Given the description of an element on the screen output the (x, y) to click on. 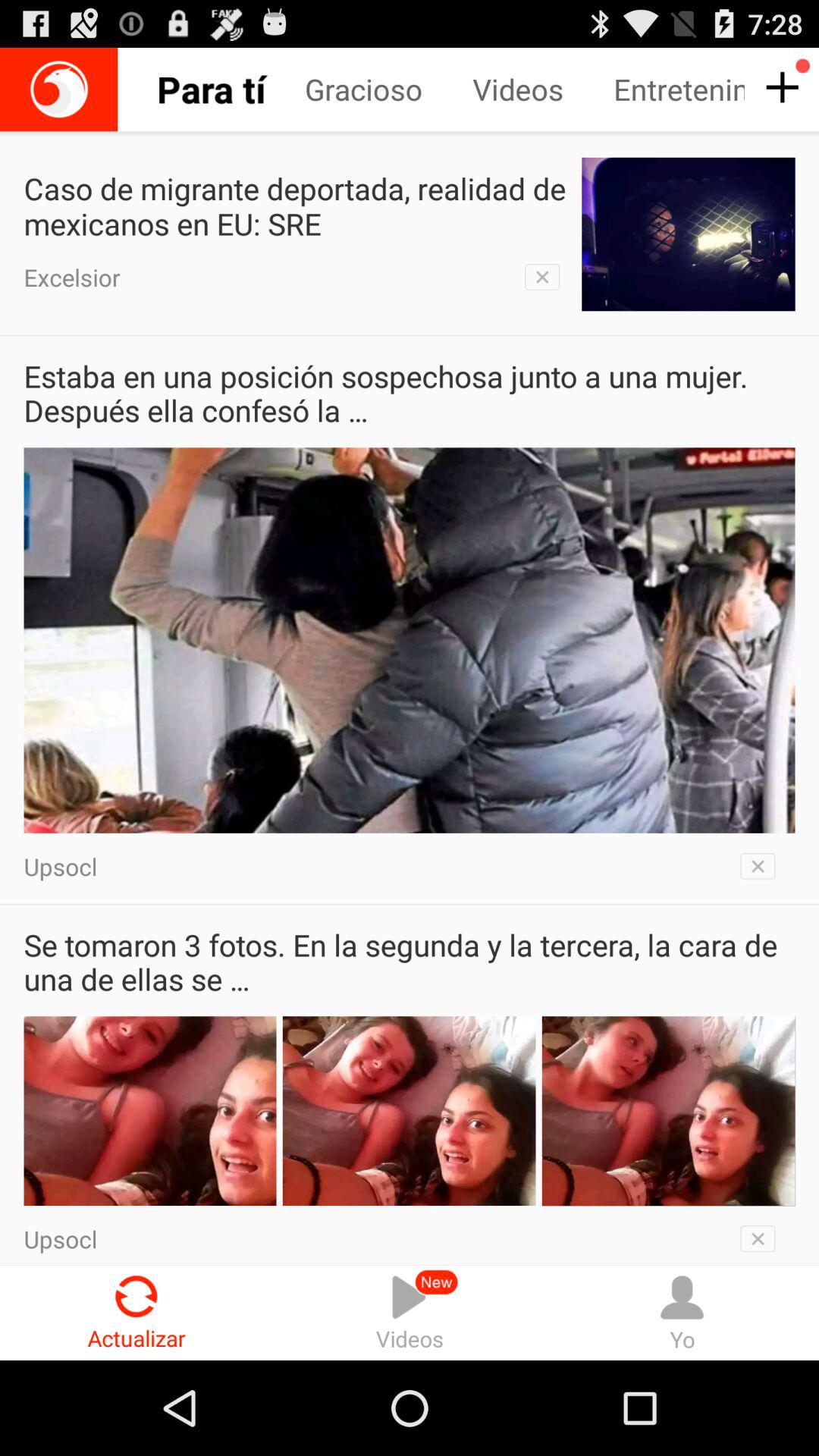
remove this section (762, 1234)
